Given the description of an element on the screen output the (x, y) to click on. 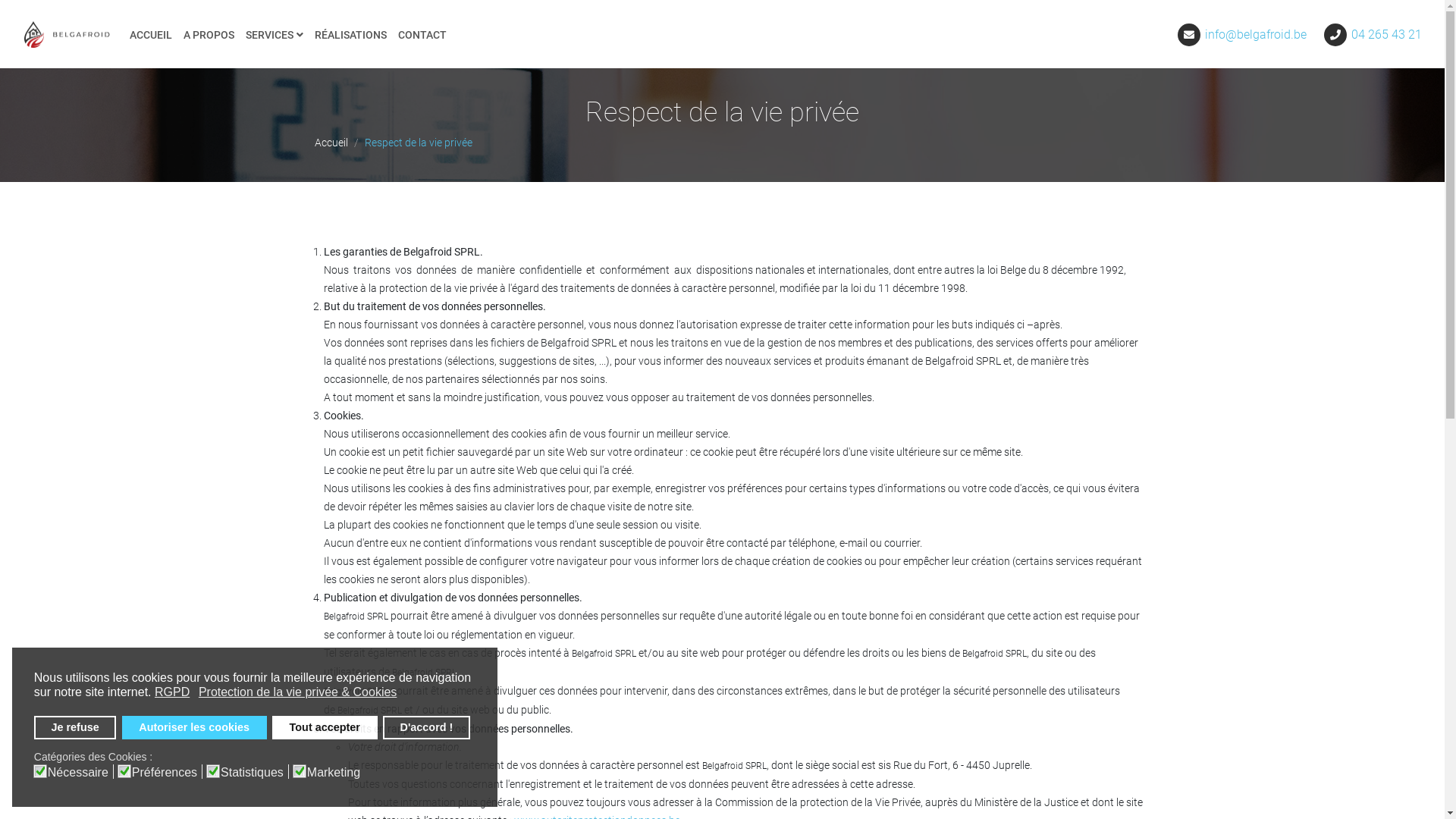
Je refuse Element type: text (75, 727)
CONTACT Element type: text (421, 34)
SERVICES Element type: text (274, 34)
ACCUEIL Element type: text (150, 34)
Autoriser les cookies Element type: text (194, 727)
info@belgafroid.be Element type: text (1255, 34)
D'accord ! Element type: text (426, 727)
Marketing Element type: text (335, 771)
Tout accepter Element type: text (324, 727)
Accueil Element type: text (330, 142)
A PROPOS Element type: text (208, 34)
RGPD Element type: text (172, 692)
Statistiques Element type: text (254, 771)
04 265 43 21 Element type: text (1386, 34)
